Given the description of an element on the screen output the (x, y) to click on. 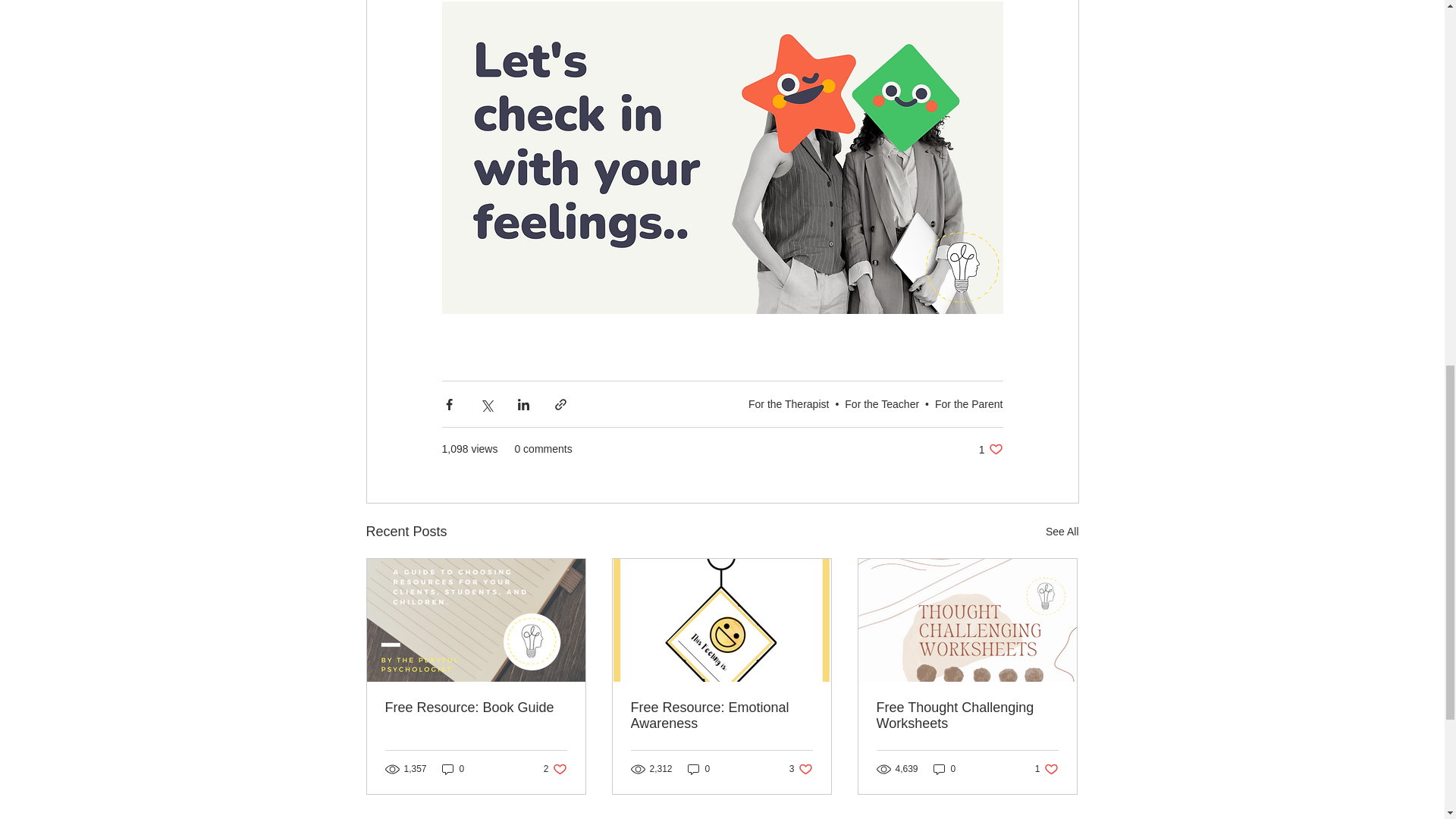
0 (453, 769)
Free Resource: Book Guide (476, 707)
For the Teacher (990, 449)
Free Resource: Emotional Awareness (881, 404)
See All (721, 716)
For the Parent (555, 769)
For the Therapist (1061, 531)
0 (968, 404)
